Given the description of an element on the screen output the (x, y) to click on. 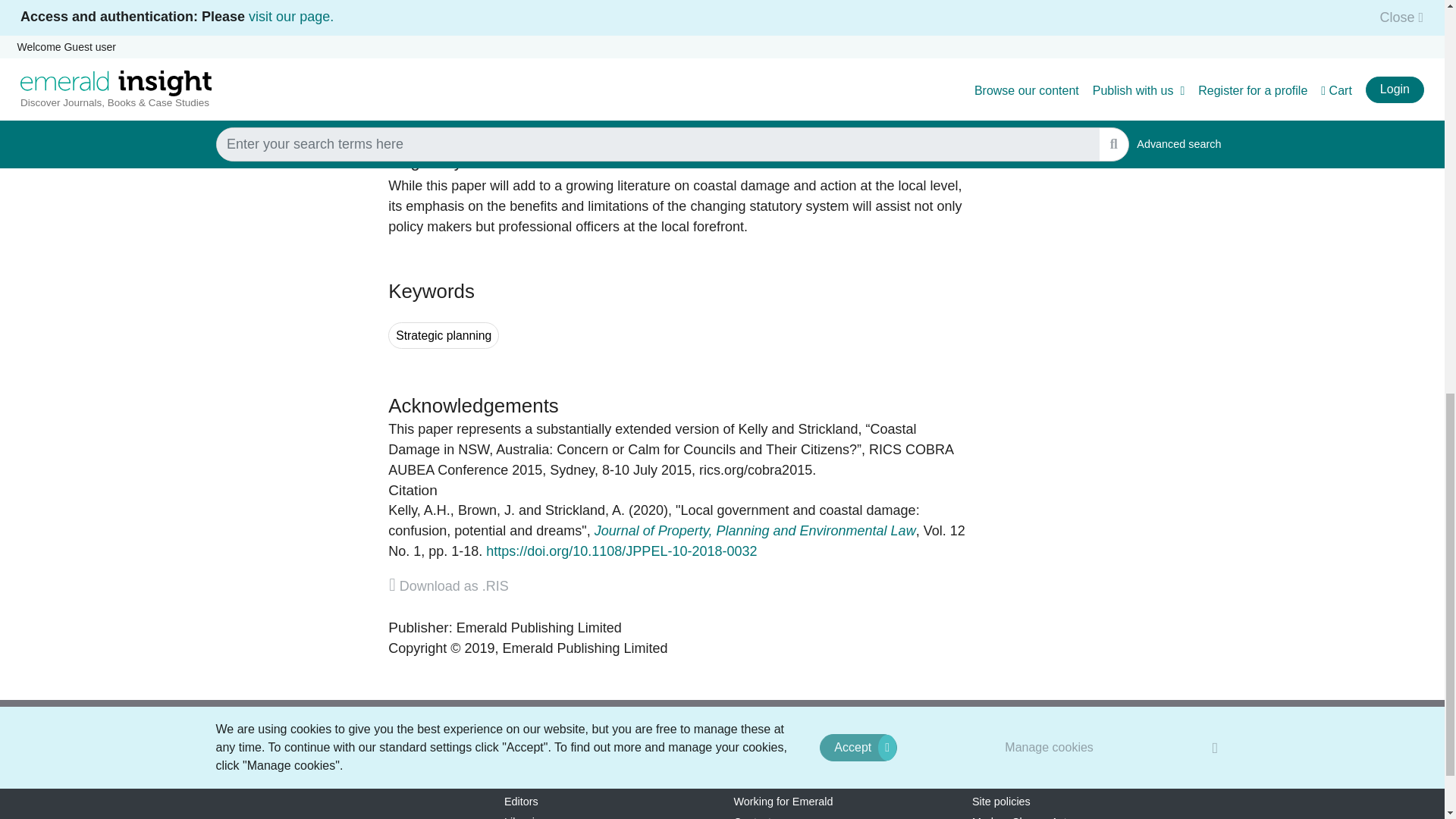
Jasper Brown (486, 509)
Search for keyword Strategic planning (443, 335)
Andrew H. Kelly (418, 509)
Aaron Strickland (584, 509)
